Given the description of an element on the screen output the (x, y) to click on. 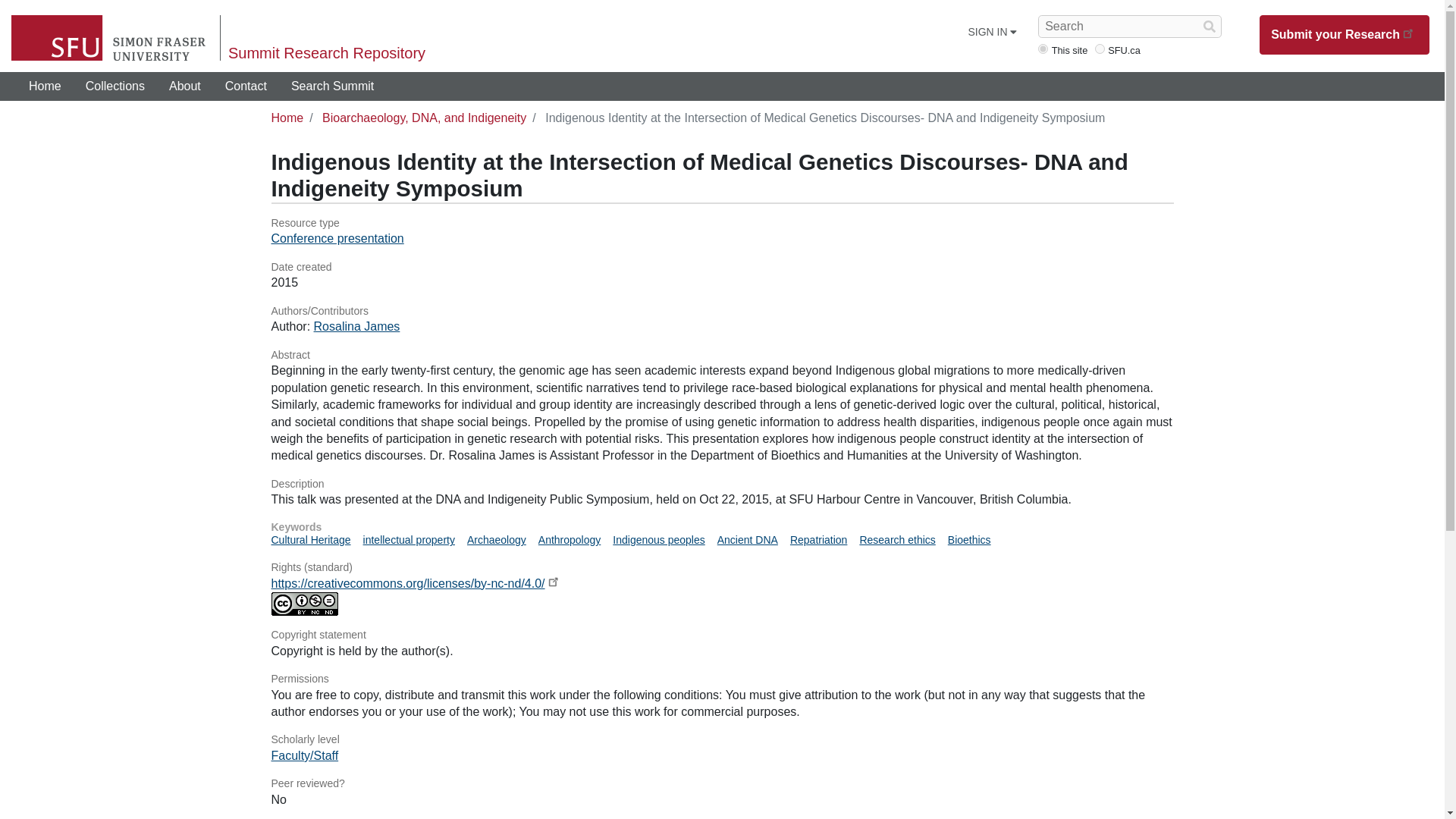
Bioethics (969, 539)
navbar-sfu (1099, 49)
Home (45, 86)
intellectual property (408, 539)
Description (721, 484)
Permissions (721, 679)
Conference presentation (337, 237)
About (184, 86)
Browse SFU collections of theses and published works (115, 86)
Homepage for SFU Summit website (45, 86)
Copyright statement (721, 635)
Resource type (721, 223)
Archaeology (496, 539)
Peer reviewed? (721, 783)
Summit Research Repository (326, 53)
